Given the description of an element on the screen output the (x, y) to click on. 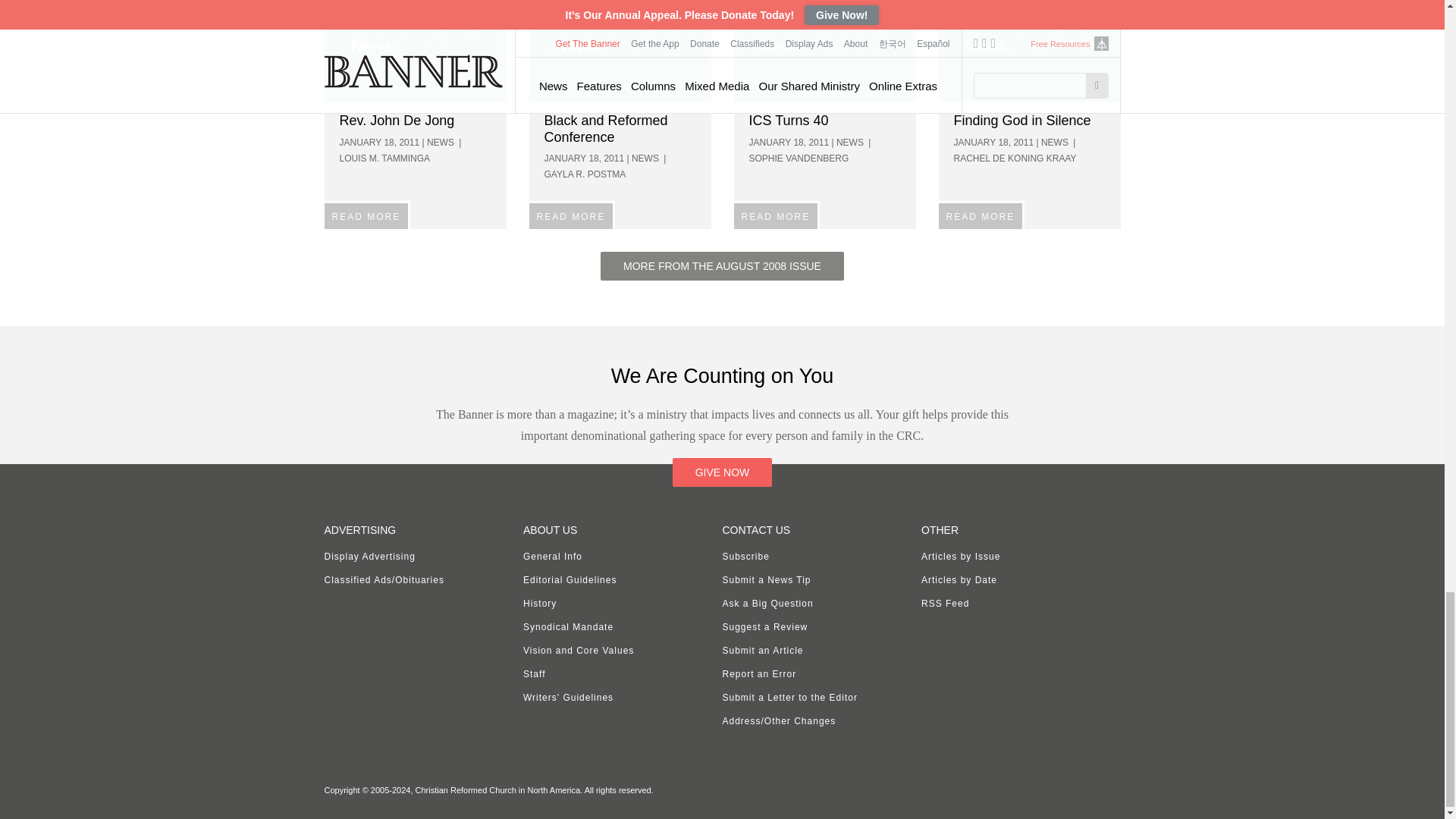
News (415, 50)
News (824, 50)
News (620, 50)
News (1030, 50)
